Given the description of an element on the screen output the (x, y) to click on. 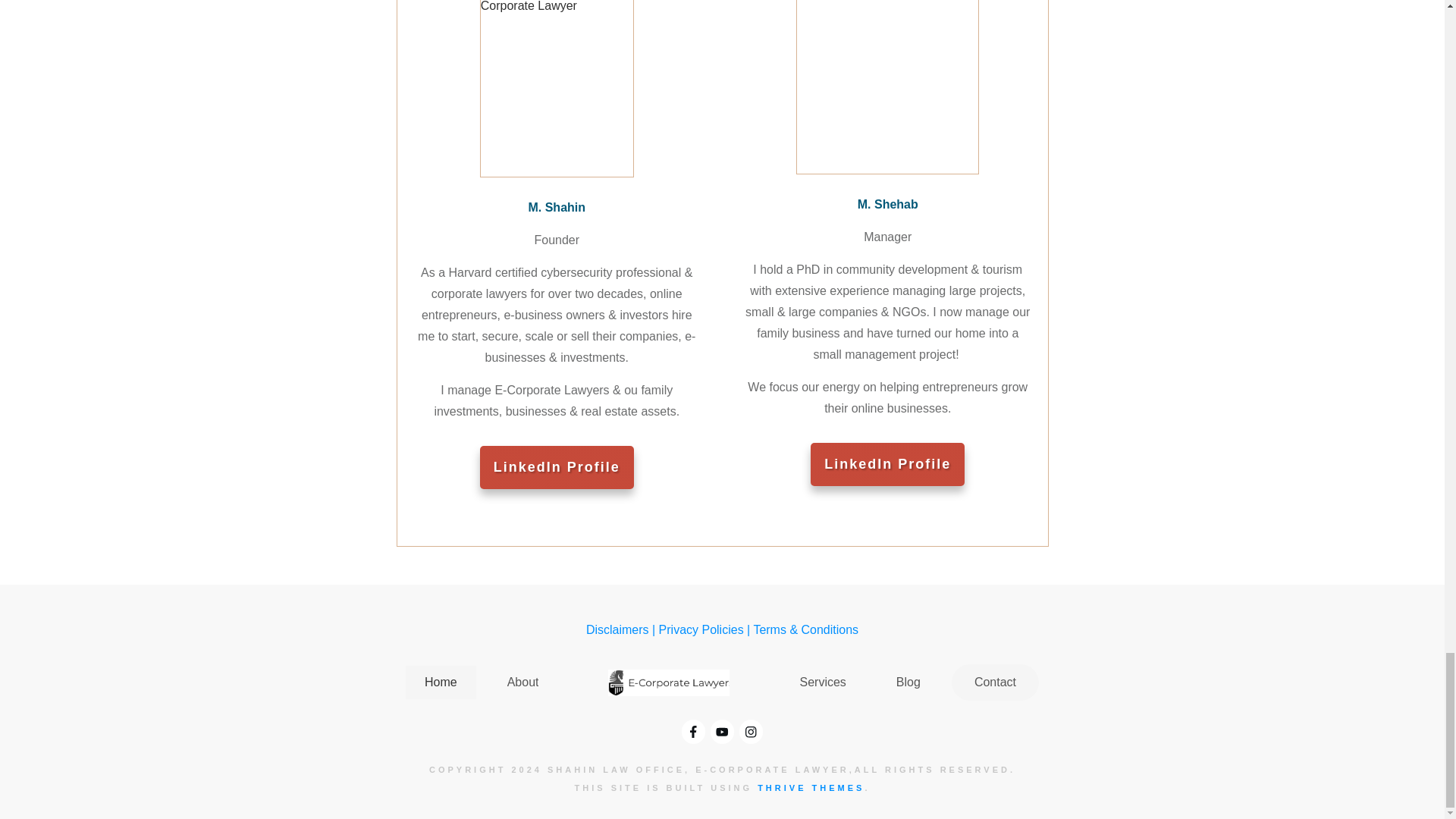
Services (822, 682)
Blog (908, 682)
Screen Shot 2018 10 14 at 00.44.19 (887, 86)
About (522, 682)
THRIVE THEMES (810, 787)
Contact (995, 682)
LinkedIn Profile (886, 464)
LinkedIn Profile (556, 467)
Home (441, 682)
